Given the description of an element on the screen output the (x, y) to click on. 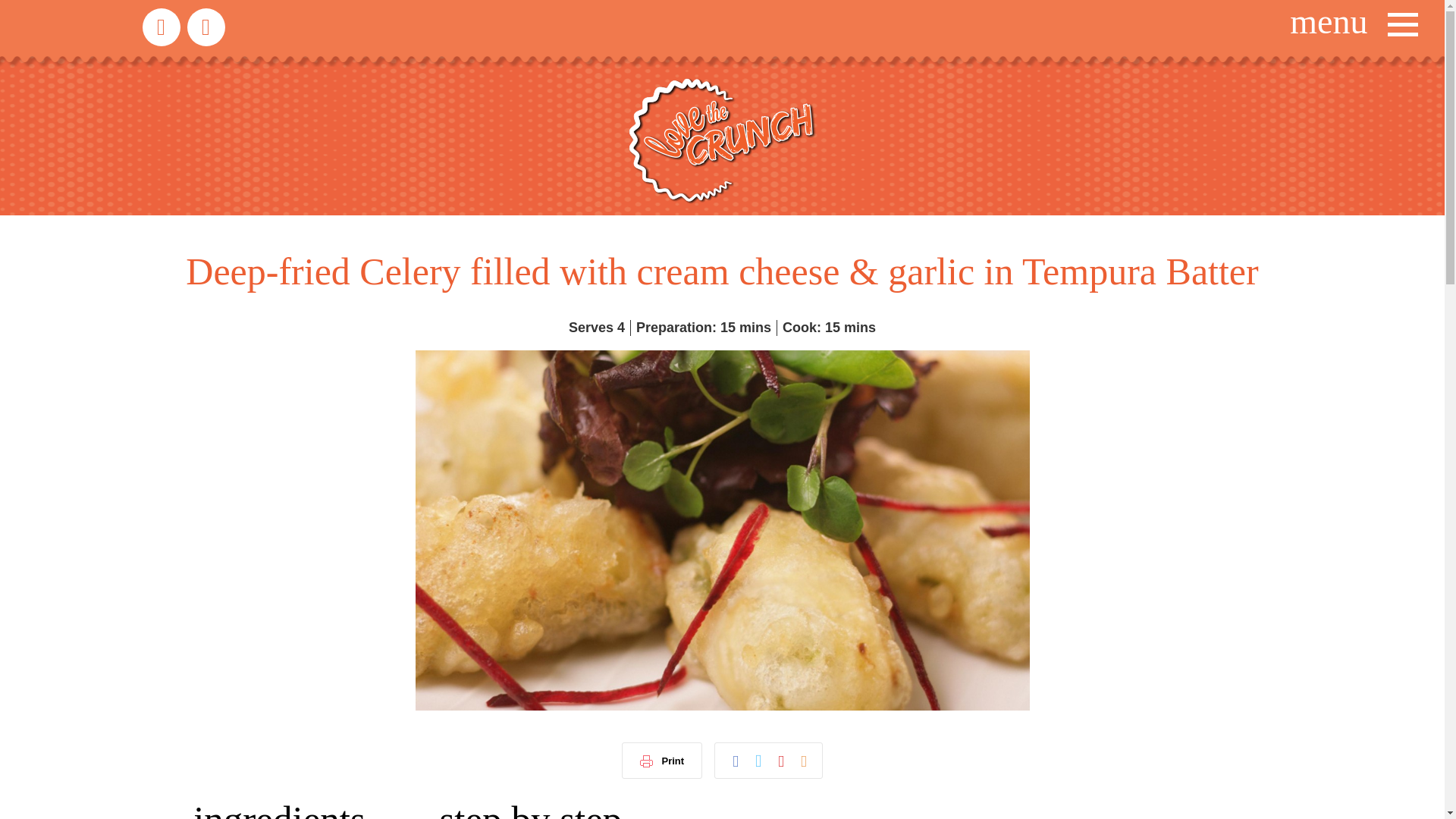
Twitter (161, 26)
menu (1351, 24)
Facebook (205, 26)
Love The Crunch (721, 140)
